Given the description of an element on the screen output the (x, y) to click on. 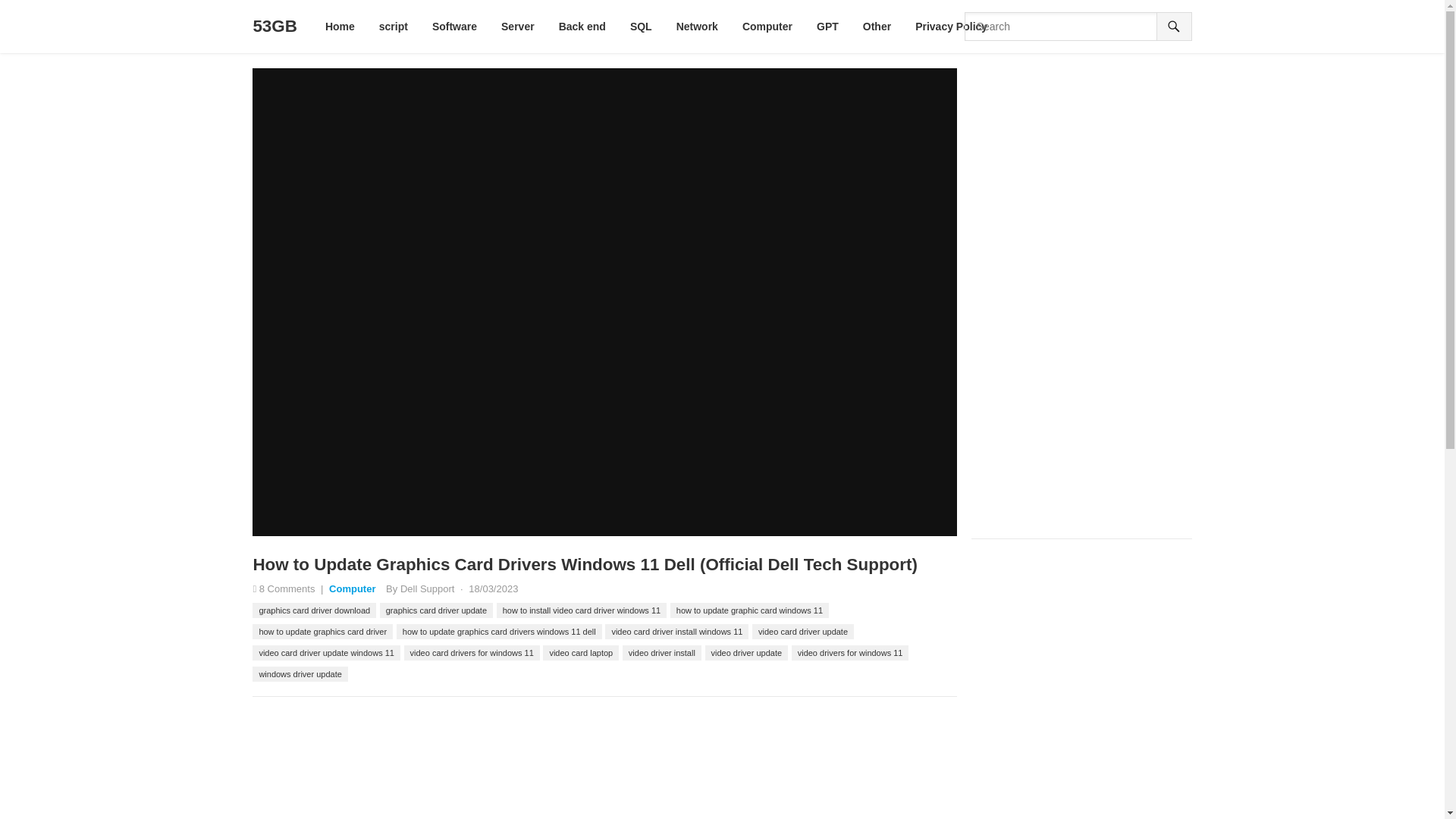
video card driver install windows 11 (676, 631)
how to install video card driver windows 11 (581, 610)
Computer (766, 26)
video card drivers for windows 11 (472, 652)
Posts by Dell Support (427, 588)
Server (517, 26)
Advertisement (606, 765)
Privacy Policy (951, 26)
video card driver update windows 11 (325, 652)
graphics card driver update (436, 610)
Software (453, 26)
how to update graphic card windows 11 (748, 610)
how to update graphics card driver (322, 631)
Other (876, 26)
Network (697, 26)
